Given the description of an element on the screen output the (x, y) to click on. 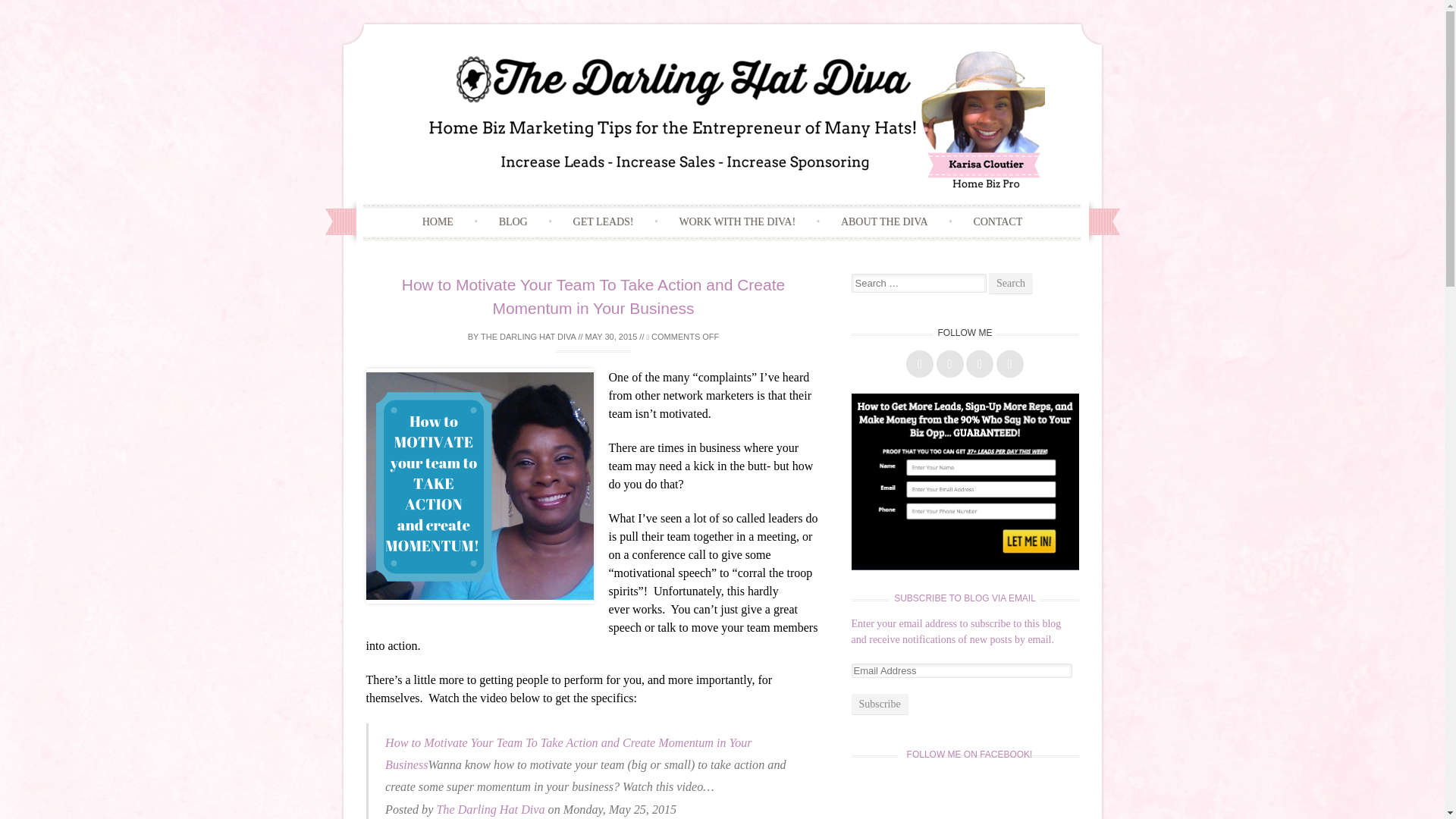
GET LEADS! (603, 222)
Search (1010, 283)
Follow me on Pinterest (979, 363)
HOME (437, 222)
ABOUT THE DIVA (884, 222)
The Darling Hat Diva (489, 809)
THE DARLING HAT DIVA (527, 336)
WORK WITH THE DIVA! (737, 222)
1:11 pm (611, 336)
Get More Leads (964, 481)
Follow me on Facebook (919, 363)
Follow me on Twitter (949, 363)
CONTACT (998, 222)
